Given the description of an element on the screen output the (x, y) to click on. 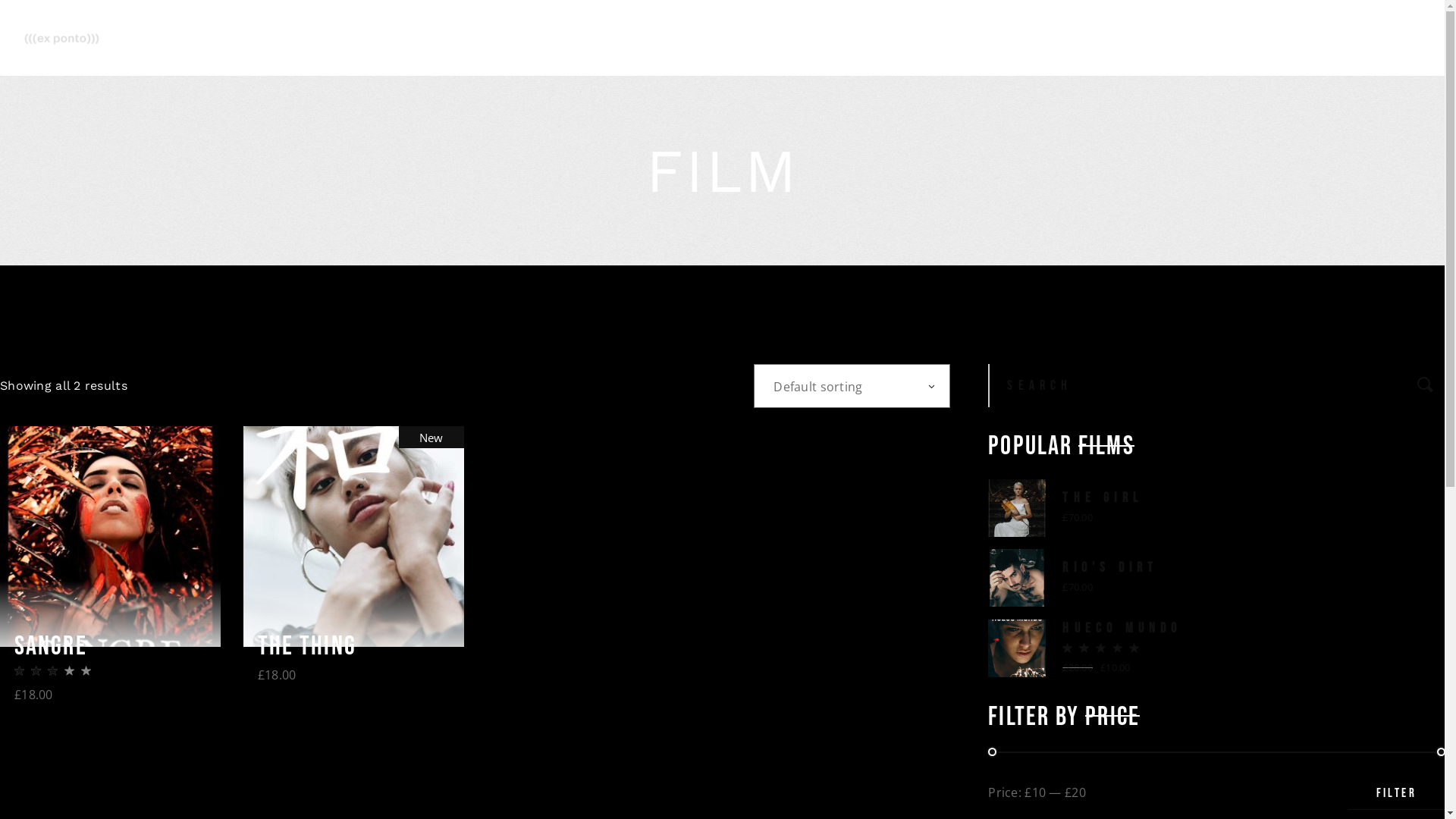
ABOUT Element type: text (673, 37)
WORK Element type: text (756, 37)
FILTER Element type: text (1396, 792)
RIO'S DIRT Element type: text (1109, 567)
THE THING Element type: text (306, 646)
THE GIRL Element type: text (1102, 498)
HUECO MUNDO Element type: text (1121, 628)
SANGRE Element type: text (50, 646)
MUSIC Element type: text (838, 37)
HOME Element type: text (590, 37)
CONTACT Element type: text (930, 37)
